Given the description of an element on the screen output the (x, y) to click on. 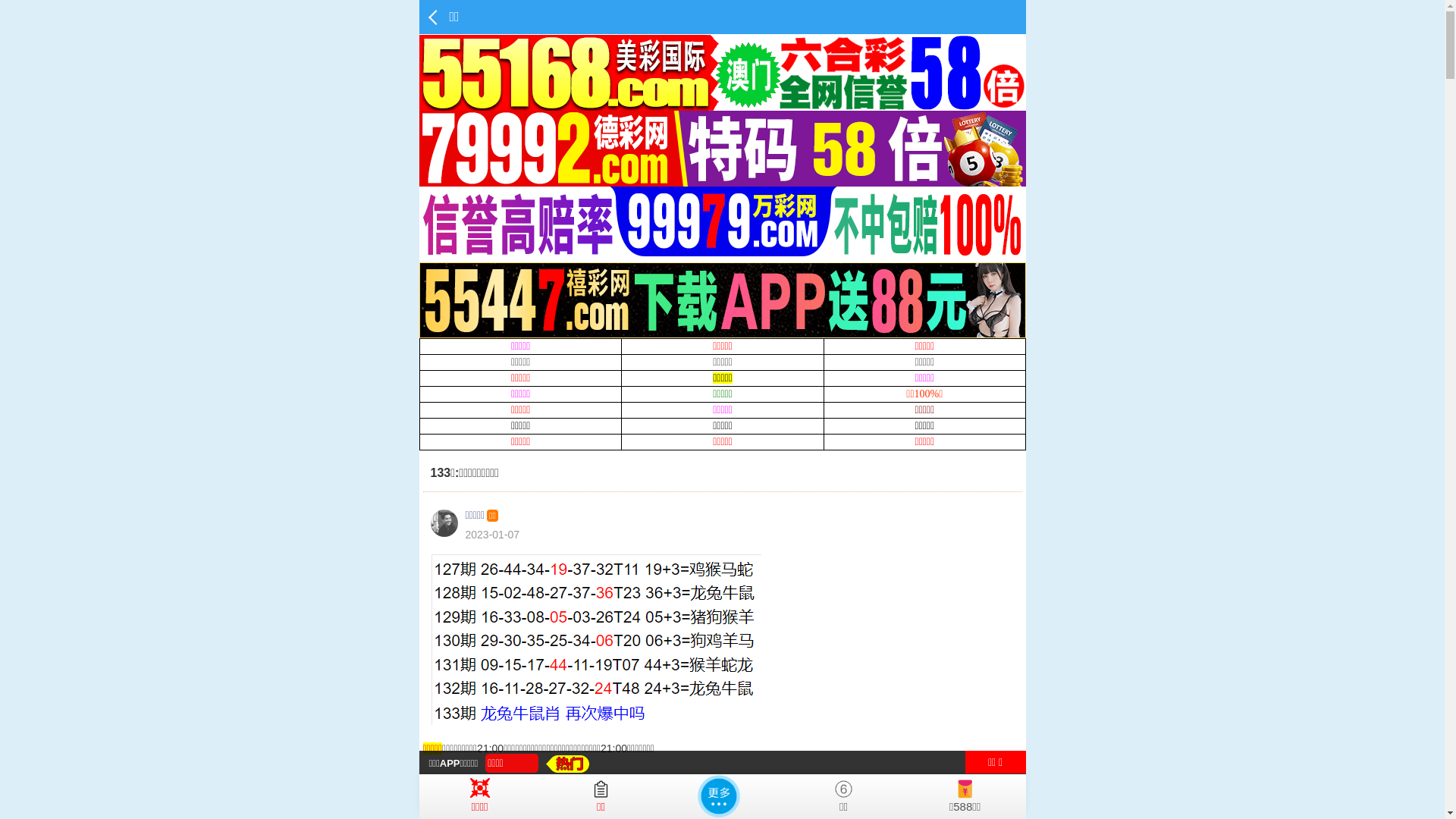
732 Element type: text (684, 788)
5 Element type: text (765, 788)
